Given the description of an element on the screen output the (x, y) to click on. 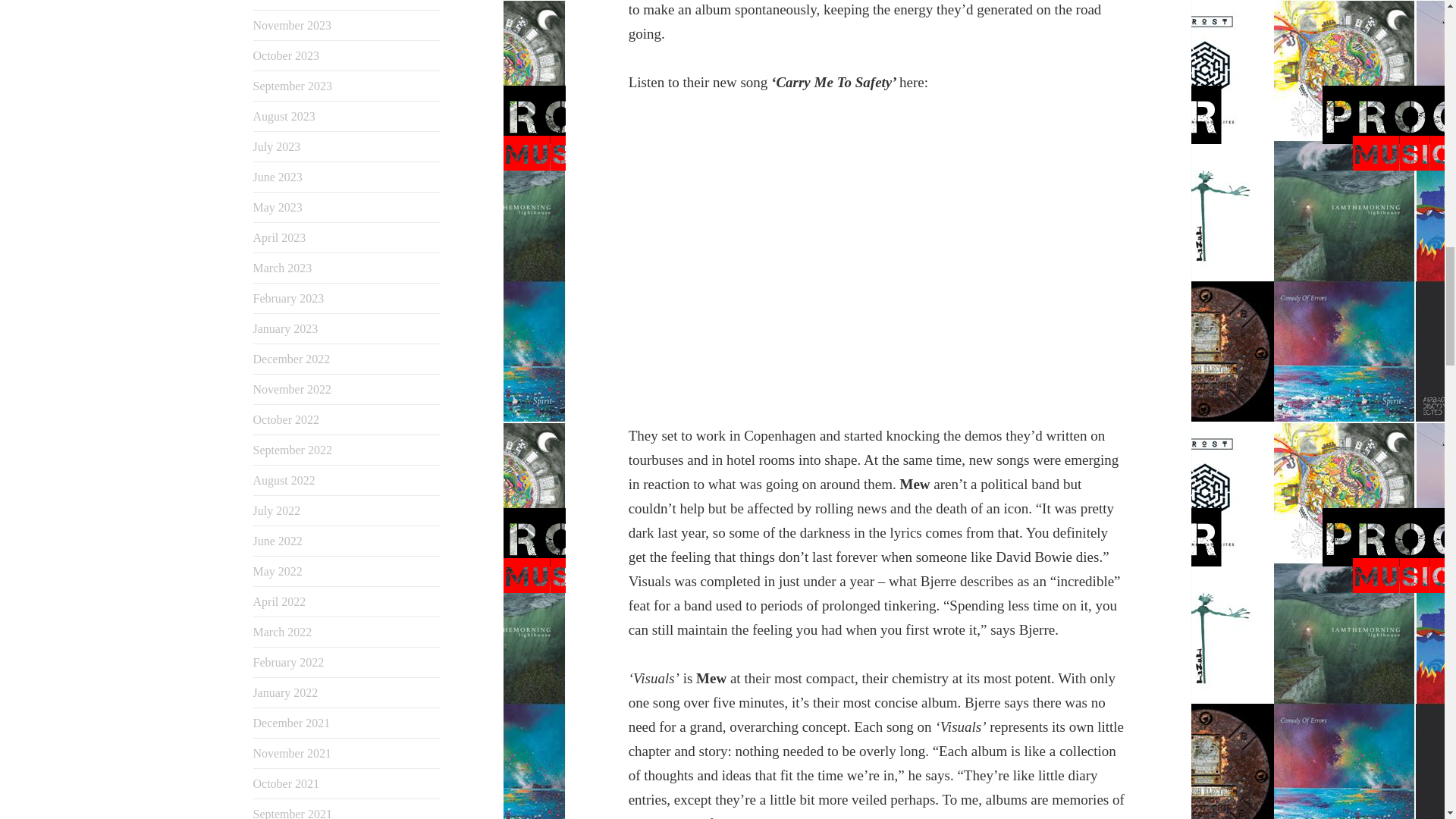
November 2023 (292, 24)
February 2023 (288, 297)
December 2022 (291, 358)
May 2023 (277, 206)
September 2022 (292, 449)
January 2023 (285, 328)
August 2023 (284, 115)
October 2022 (286, 419)
April 2023 (279, 237)
September 2023 (292, 85)
June 2023 (277, 176)
March 2023 (283, 267)
October 2023 (286, 55)
July 2023 (277, 146)
December 2023 (291, 0)
